Given the description of an element on the screen output the (x, y) to click on. 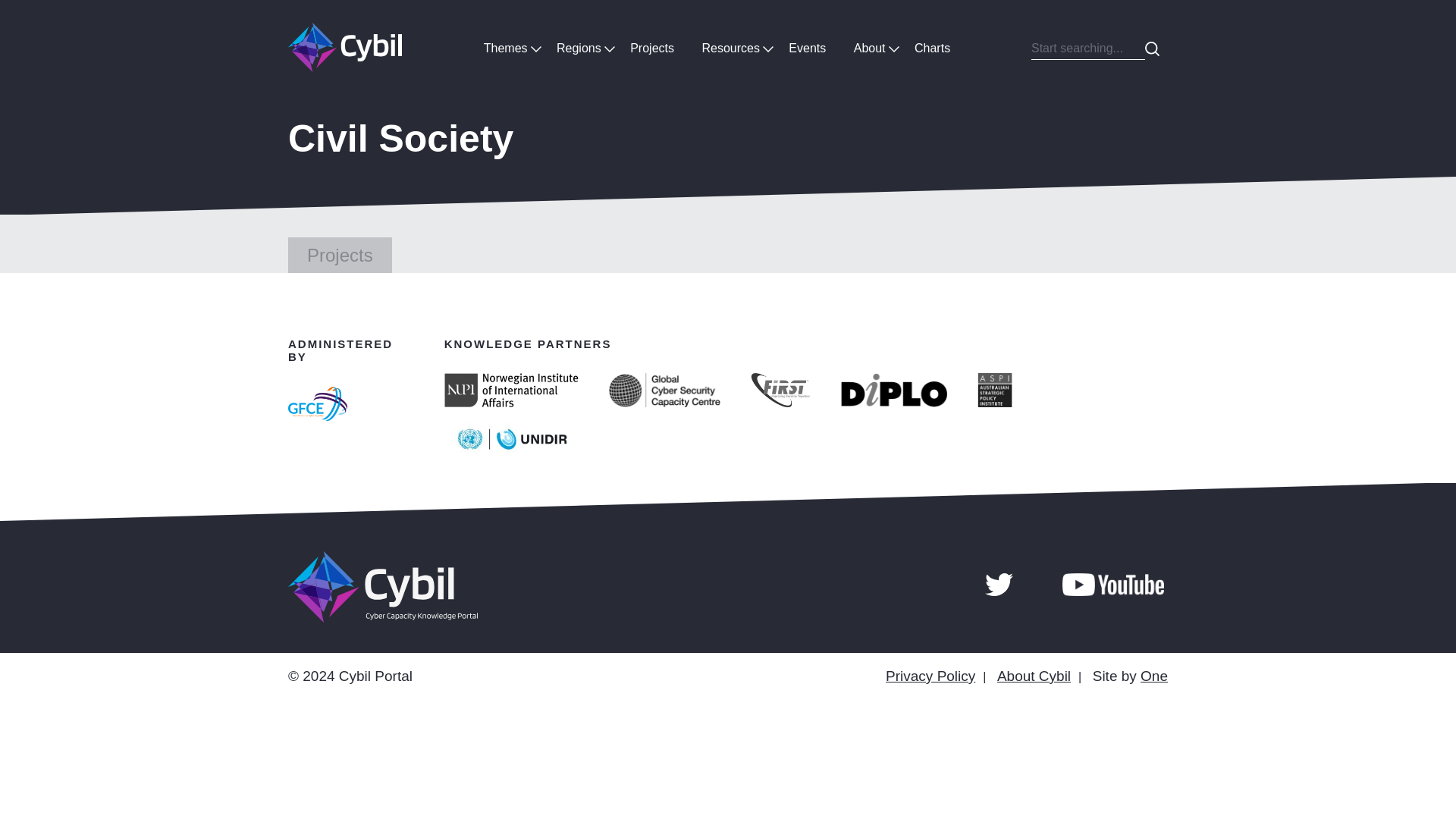
Events (807, 47)
Resources (729, 47)
Charts (932, 47)
About (869, 47)
Regions (578, 47)
Search (1152, 48)
Projects (651, 47)
Search (1152, 48)
Themes (505, 47)
